Given the description of an element on the screen output the (x, y) to click on. 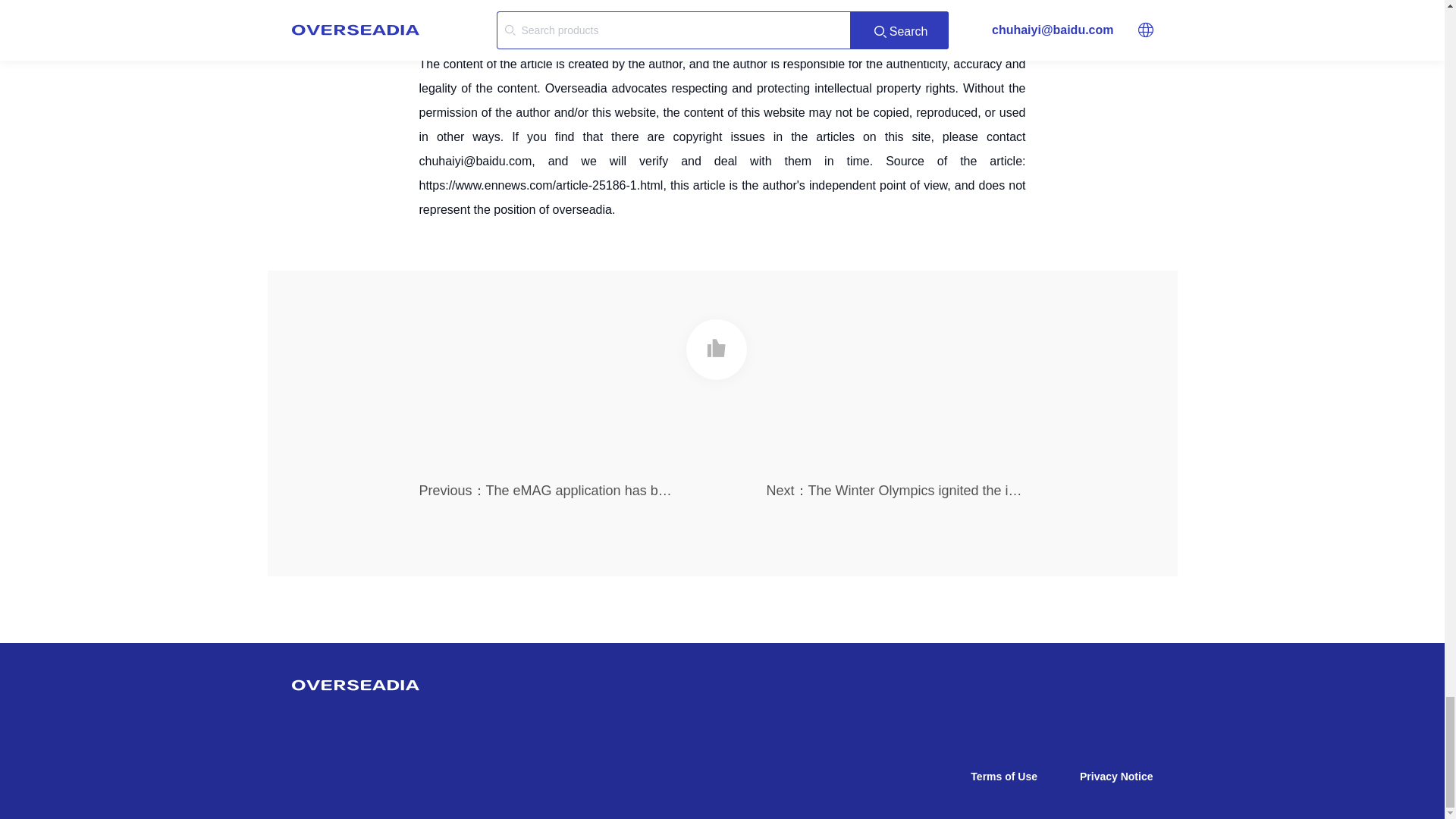
Terms of Use (1003, 776)
Privacy Notice (1116, 776)
